Given the description of an element on the screen output the (x, y) to click on. 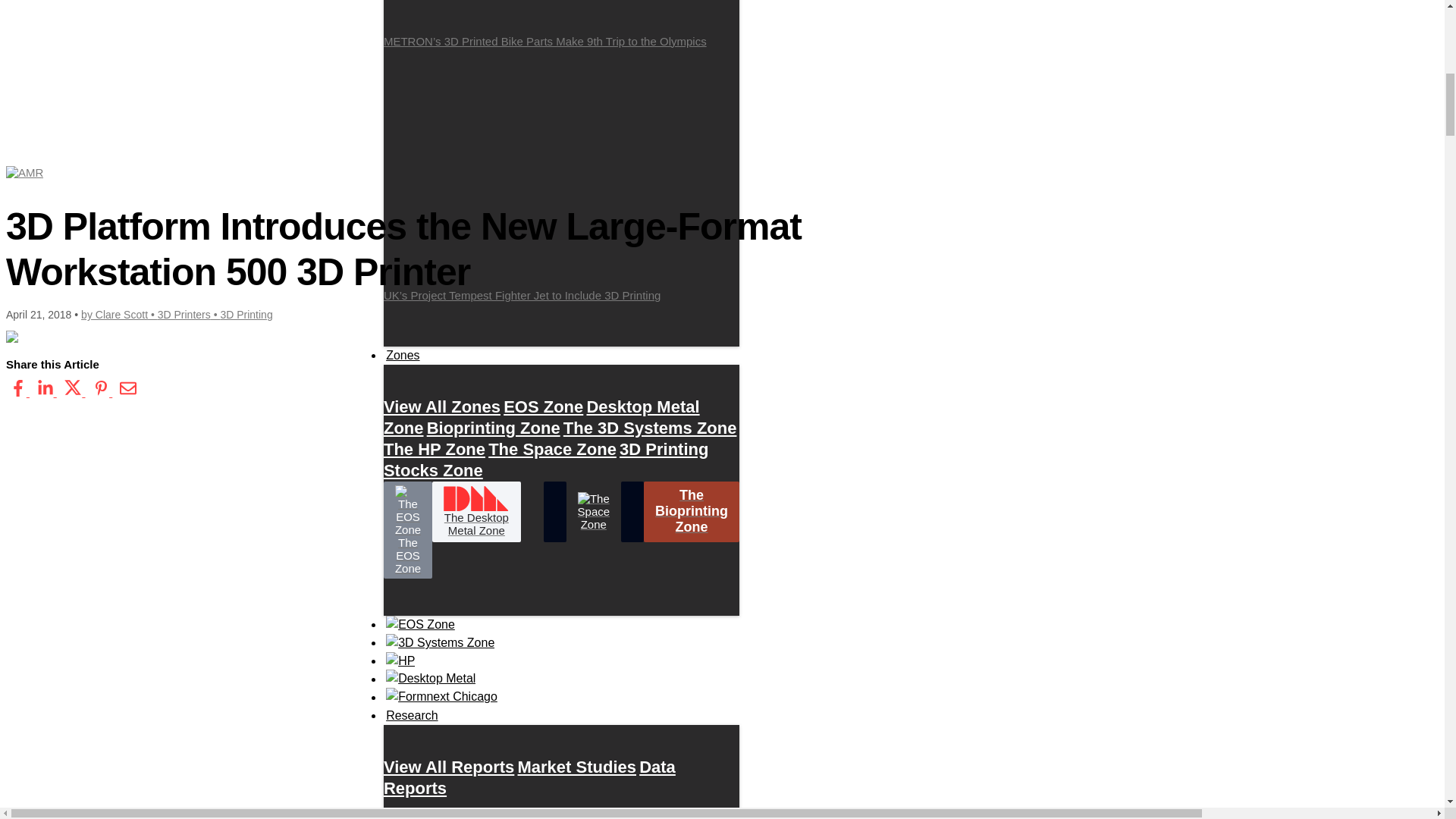
The HP Zone (434, 448)
View All Zones (442, 406)
The Space Zone (551, 448)
Bioprinting Zone (493, 427)
3D Printing Stocks Zone (545, 459)
Desktop Metal Zone (542, 416)
Zones (403, 355)
The Desktop Metal Zone (475, 511)
The 3D Systems Zone (649, 427)
EOS Zone (543, 406)
